Given the description of an element on the screen output the (x, y) to click on. 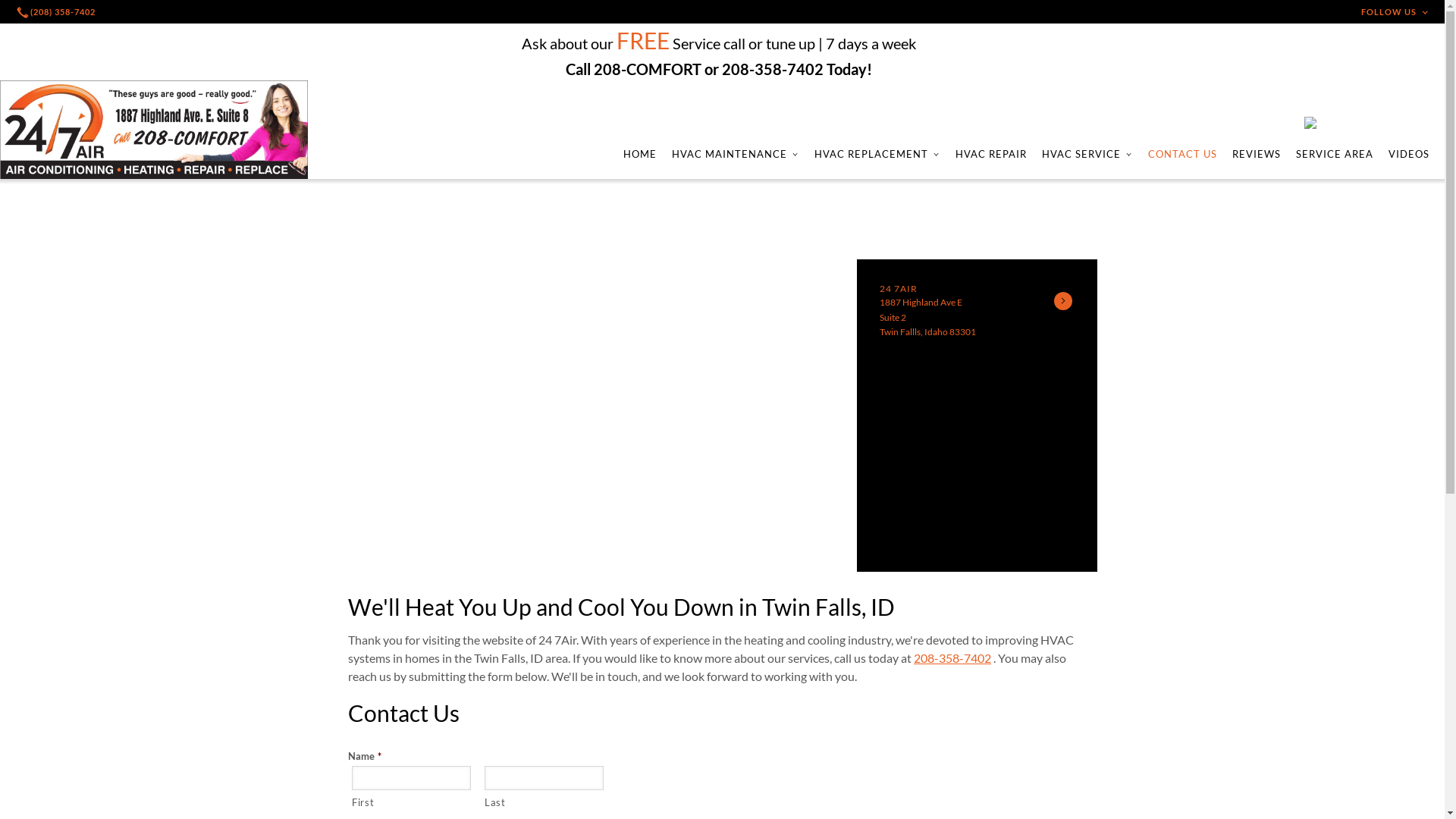
VIDEOS Element type: text (1408, 153)
HOME Element type: text (639, 153)
CONTACT US Element type: text (1182, 153)
208-358-7402 Element type: text (952, 657)
(208) 358-7402 Element type: hover (57, 11)
HVAC REPAIR Element type: text (990, 153)
See Details Element type: hover (1063, 300)
REVIEWS Element type: text (1256, 153)
SERVICE AREA Element type: text (1334, 153)
